Given the description of an element on the screen output the (x, y) to click on. 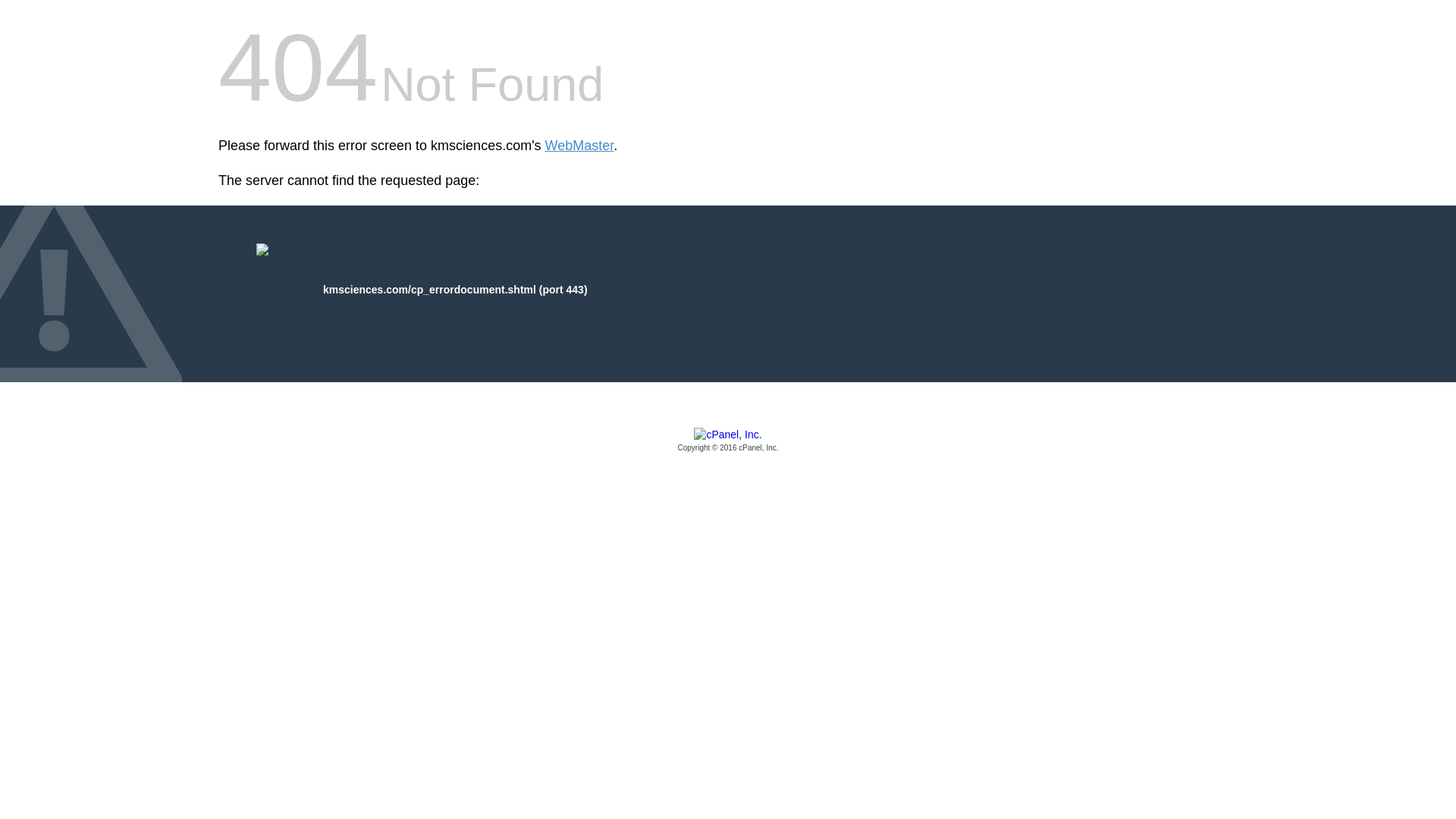
WebMaster (579, 145)
cPanel, Inc. (727, 440)
